Given the description of an element on the screen output the (x, y) to click on. 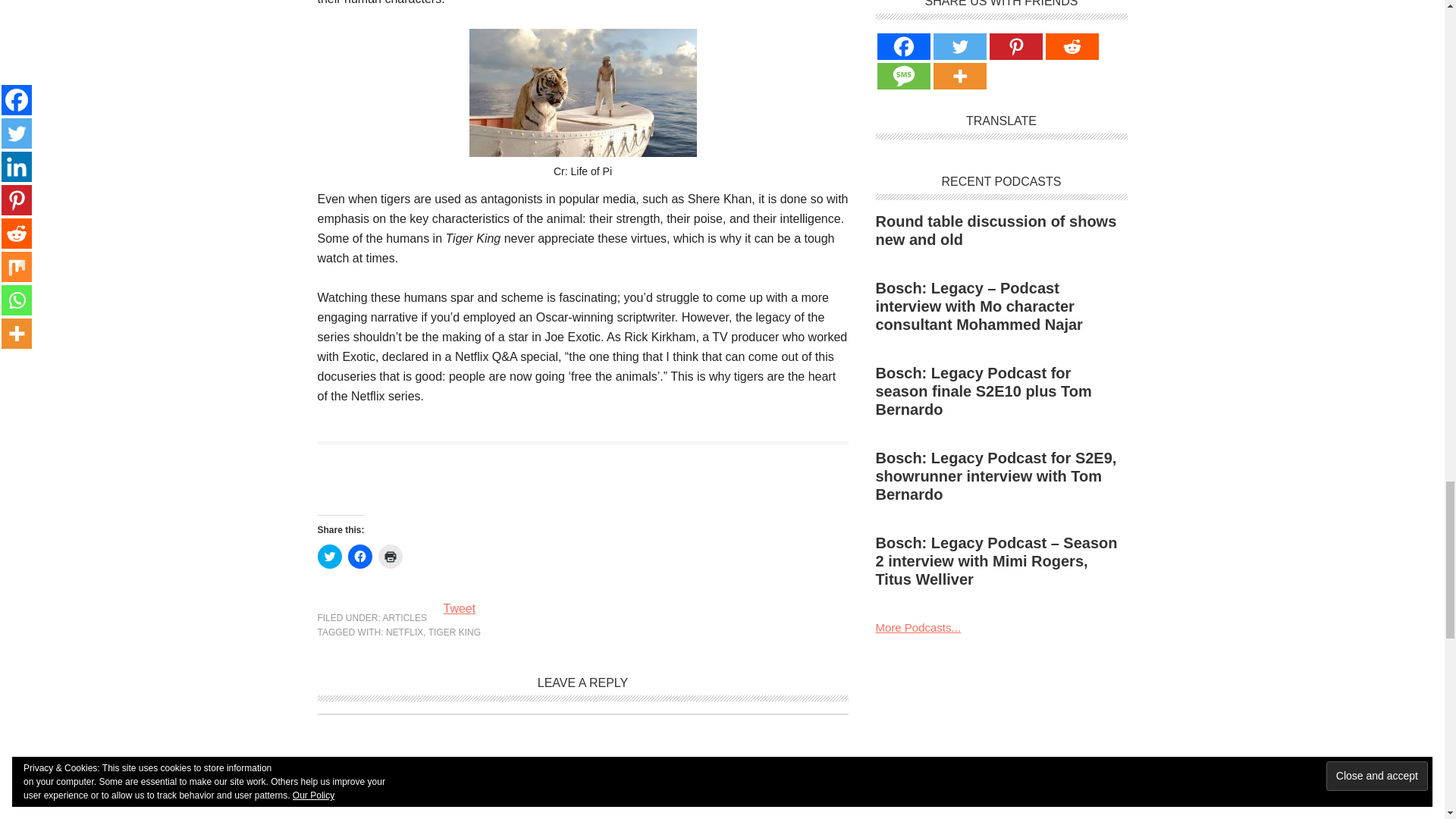
ARTICLES (404, 617)
Click to print (389, 556)
Click to share on Facebook (359, 556)
Tweet (459, 608)
Click to share on Twitter (328, 556)
